Given the description of an element on the screen output the (x, y) to click on. 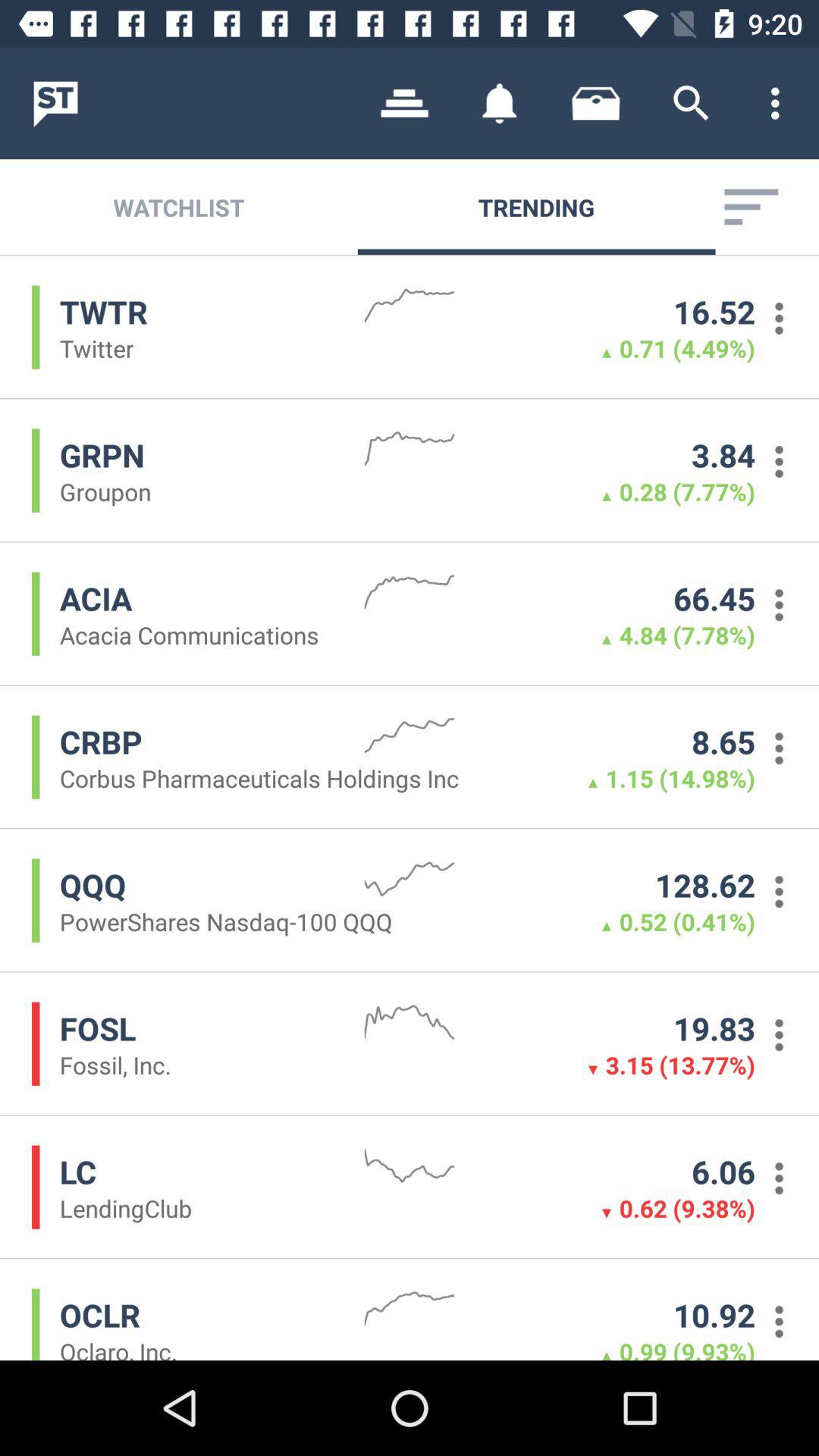
select the item above the trending item (500, 103)
